Given the description of an element on the screen output the (x, y) to click on. 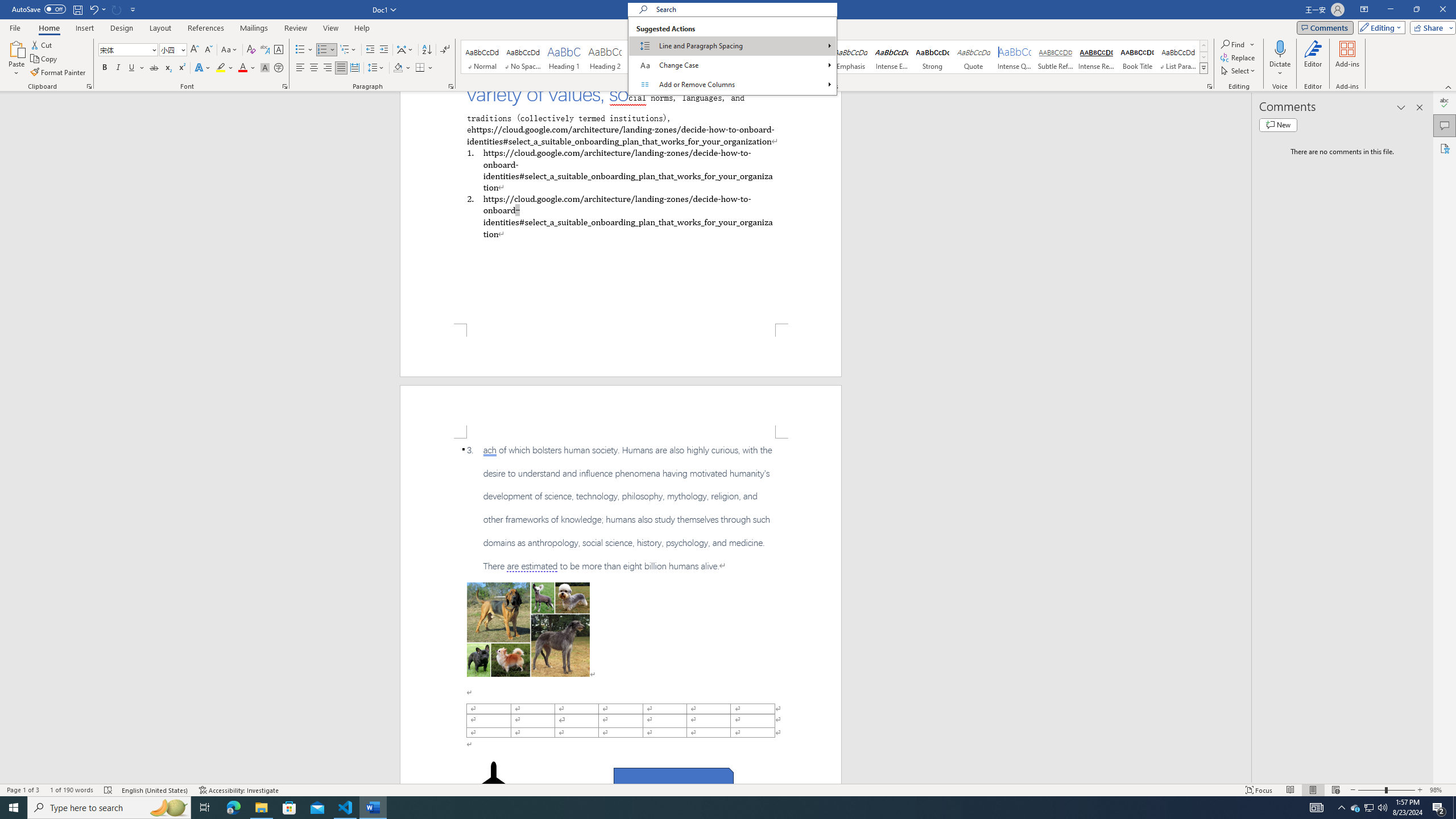
System (6, 6)
Sort... (426, 49)
Superscript (180, 67)
Spelling and Grammar Check Errors (108, 790)
Class: NetUITWMenuContainer (731, 56)
Styles... (1209, 85)
Home (48, 28)
Borders (419, 67)
Rectangle: Diagonal Corners Snipped 2 (672, 781)
Title (727, 56)
Paste (16, 48)
Comments (1444, 125)
Task Pane Options (1400, 107)
Web Layout (1335, 790)
